Given the description of an element on the screen output the (x, y) to click on. 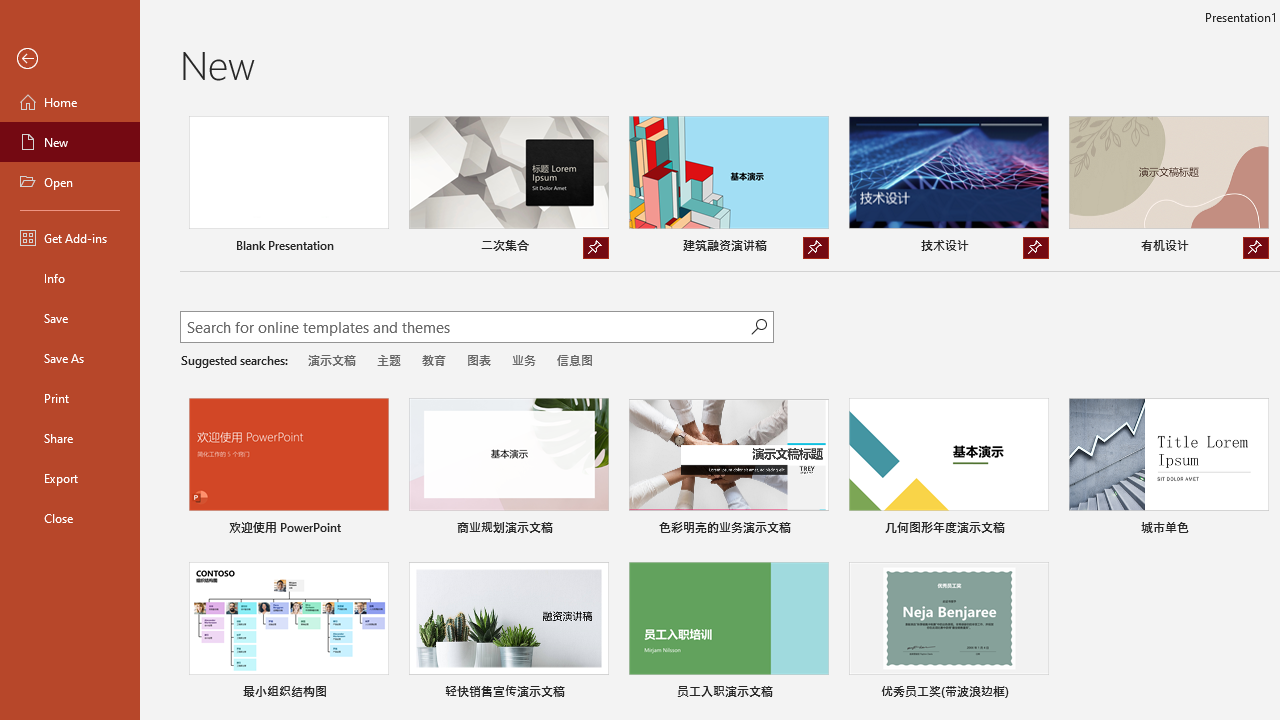
Pin to list (1035, 693)
Save As (69, 357)
Blank Presentation (288, 187)
Get Add-ins (69, 237)
